Given the description of an element on the screen output the (x, y) to click on. 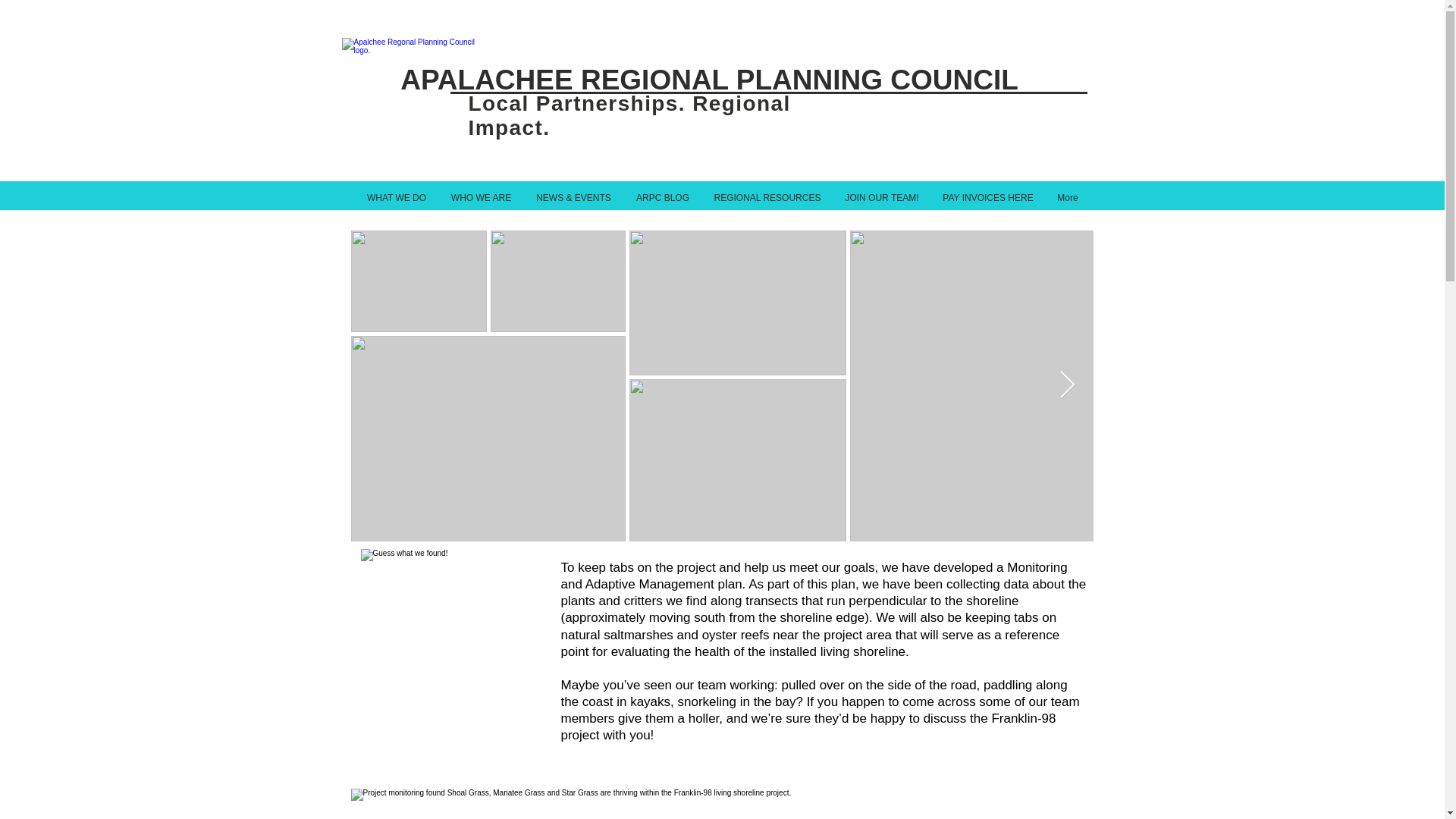
WHO WE ARE (480, 197)
ARPC BLOG (662, 197)
PAY INVOICES HERE (988, 197)
WHAT WE DO (397, 197)
JOIN OUR TEAM! (881, 197)
REGIONAL RESOURCES (766, 197)
